Given the description of an element on the screen output the (x, y) to click on. 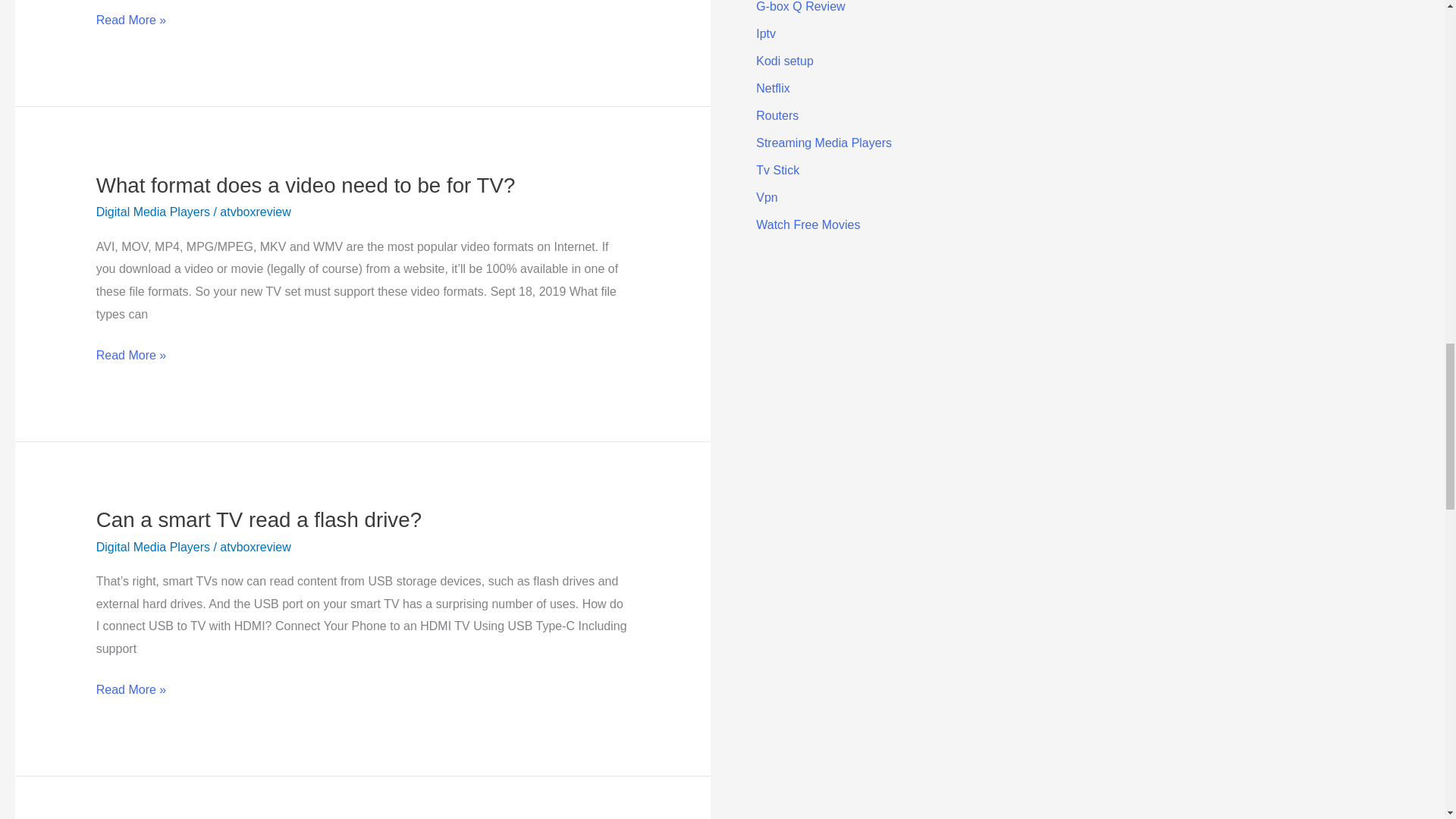
atvboxreview (254, 211)
View all posts by atvboxreview (254, 546)
atvboxreview (254, 546)
View all posts by atvboxreview (254, 211)
Can a smart TV read a flash drive? (259, 519)
What format does a video need to be for TV? (305, 185)
Digital Media Players (152, 546)
Digital Media Players (152, 211)
